Given the description of an element on the screen output the (x, y) to click on. 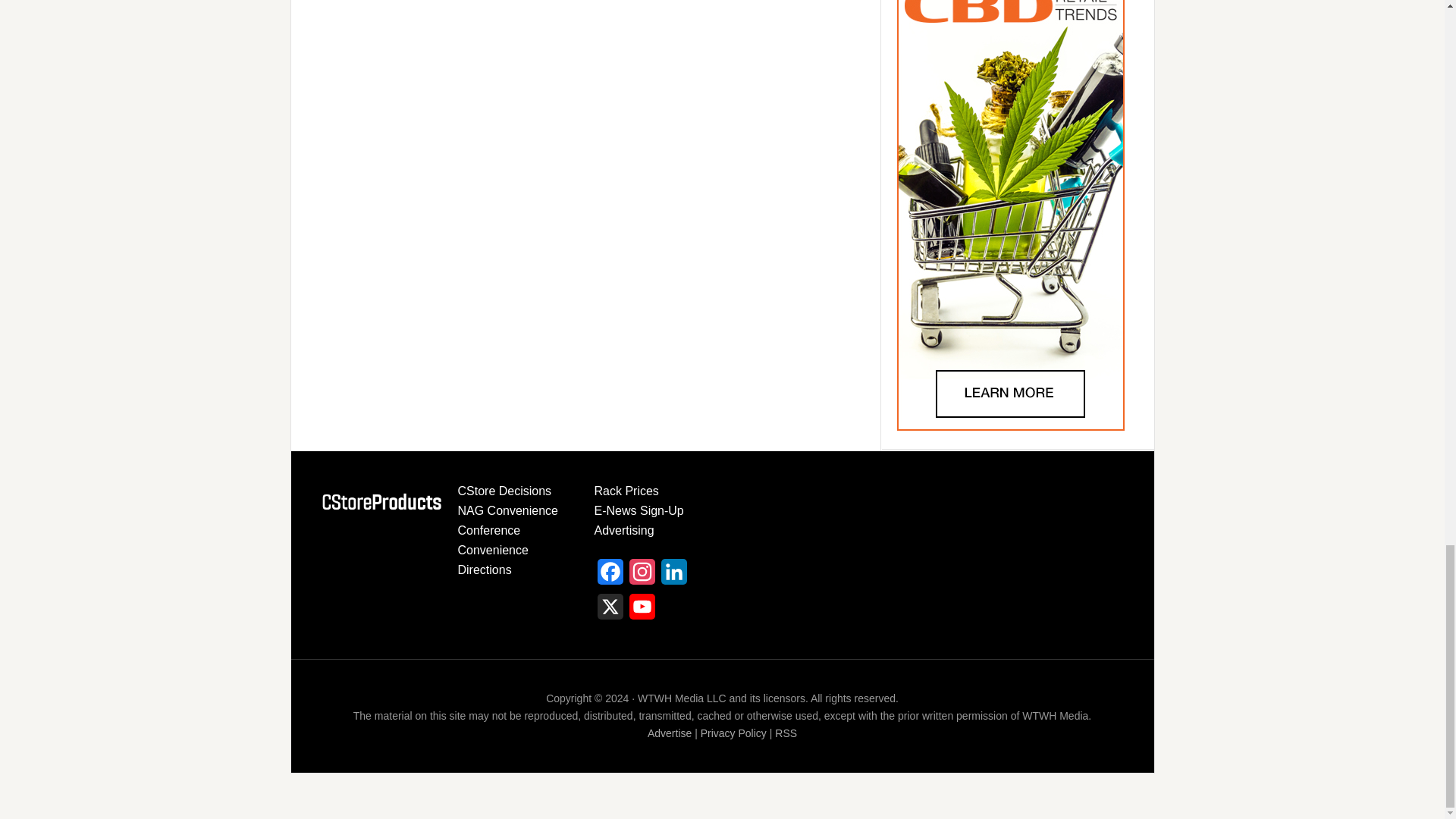
X (610, 610)
NAG Convenience Conference (508, 520)
CStore Decisions (504, 490)
YouTube (642, 610)
LinkedIn Company (674, 575)
Convenience Directions (493, 559)
Instagram (642, 575)
Facebook (610, 575)
